Given the description of an element on the screen output the (x, y) to click on. 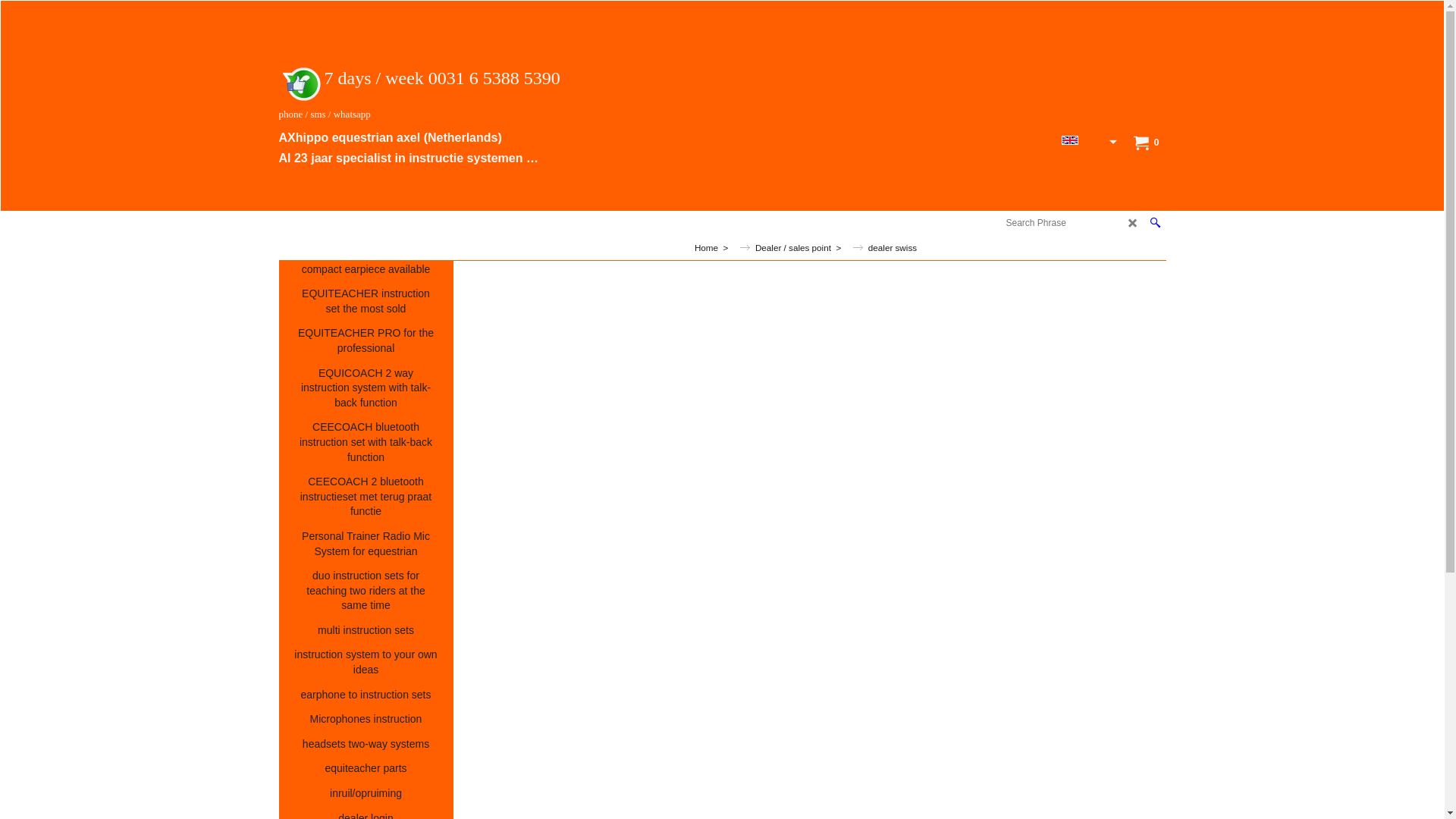
Dealer / sales point  >  Element type: text (808, 247)
multi instruction sets Element type: text (365, 630)
headsets two-way systems Element type: text (365, 744)
AXhippo equestrian axel (Netherlands) Element type: text (412, 138)
EQUITEACHER PRO for the professional Element type: text (365, 340)
customer service / web information Element type: text (627, 217)
EQUICOACH 2 way instruction system with talk-back function Element type: text (365, 388)
Find Element type: hover (1155, 222)
EQUITRAINER the most compact earpiece available Element type: text (365, 262)
LD_CANCEL Element type: hover (1132, 222)
EQUITEACHER instruction set the most sold Element type: text (365, 301)
CEECOACH bluetooth instruction set with talk-back function Element type: text (365, 442)
Home  >  Element type: text (721, 247)
CEECOACH 2 bluetooth instructieset met terug praat functie Element type: text (365, 497)
equiteacher parts Element type: text (365, 768)
inruil/opruiming Element type: text (365, 793)
instruction system to your own ideas Element type: text (365, 662)
Home Element type: text (431, 217)
Checkout Element type: text (961, 217)
Contact Element type: text (486, 217)
earphone to instruction sets Element type: text (365, 695)
Personal Trainer Radio Mic System for equestrian Element type: text (365, 544)
equestrian instruction manual Element type: text (831, 217)
English Element type: hover (1069, 139)
Microphones instruction Element type: text (365, 719)
